Given the description of an element on the screen output the (x, y) to click on. 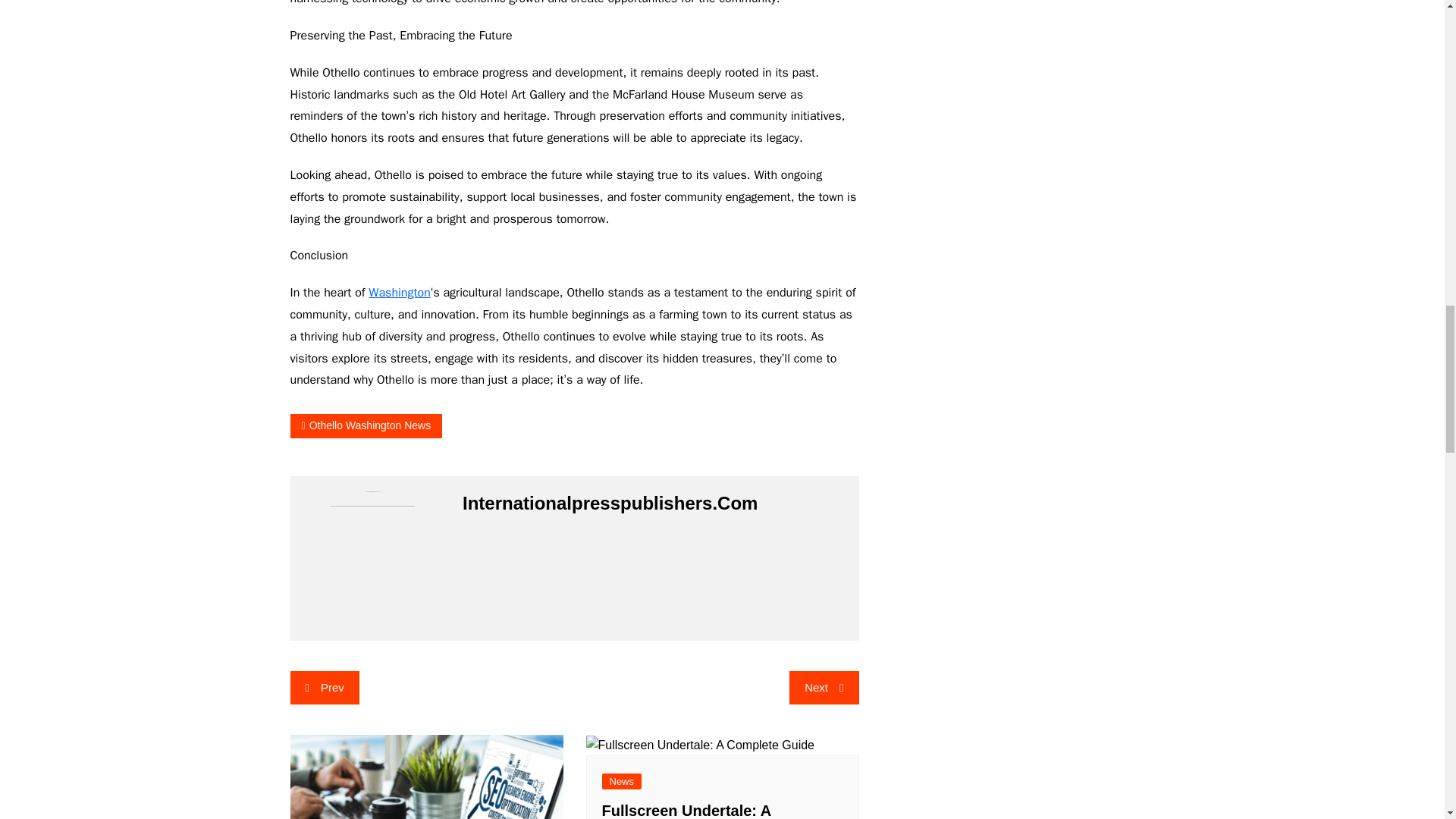
Othello Washington News (365, 425)
Washington (398, 292)
Next (824, 687)
Prev (323, 687)
News (622, 781)
Fullscreen Undertale: A Complete Guide (686, 810)
